Given the description of an element on the screen output the (x, y) to click on. 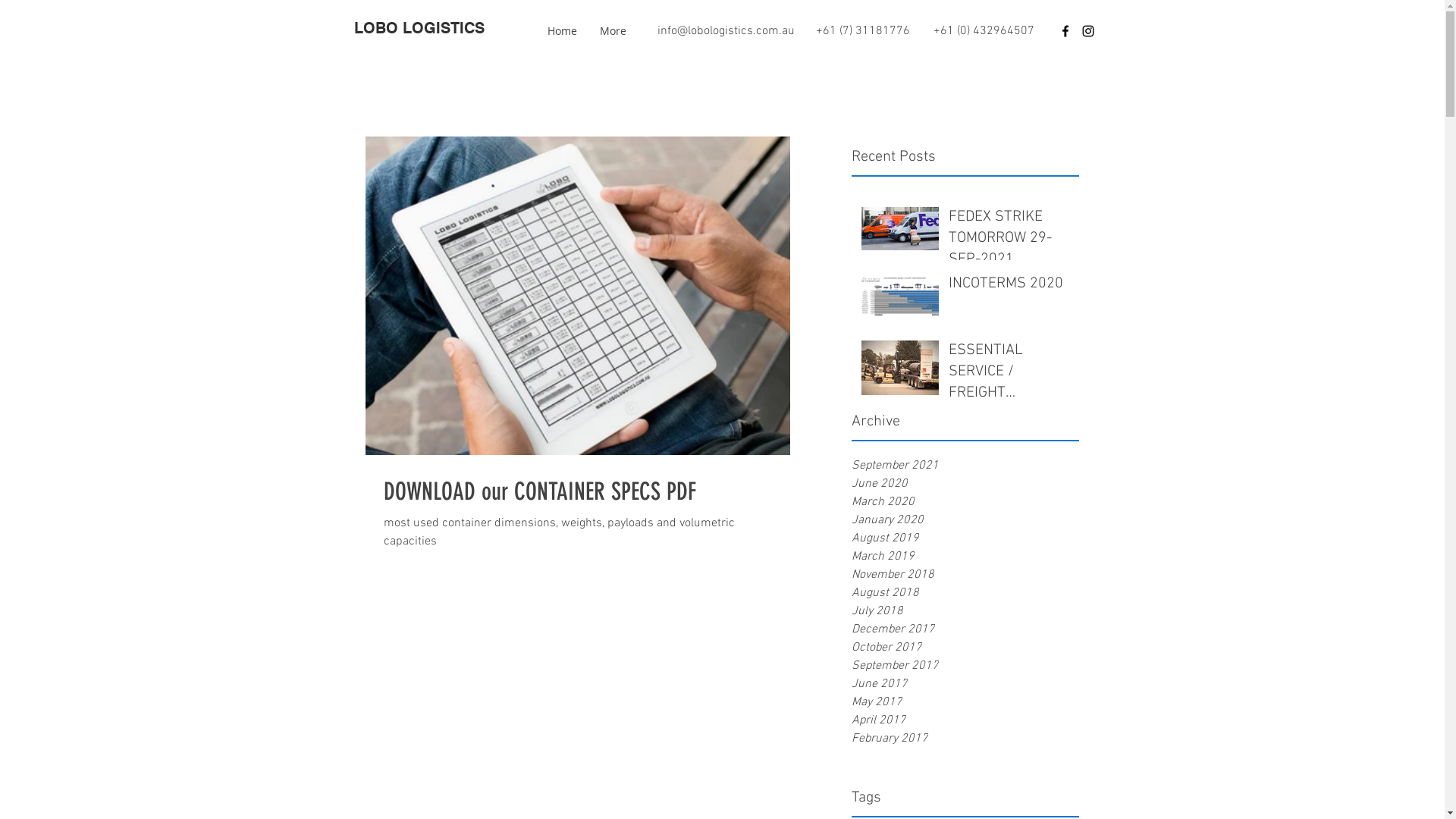
November 2018 Element type: text (964, 574)
June 2017 Element type: text (964, 683)
January 2020 Element type: text (964, 520)
August 2019 Element type: text (964, 538)
INCOTERMS 2020 Element type: text (1008, 286)
ESSENTIAL SERVICE / FREIGHT TRANSPORT Element type: text (1008, 374)
September 2021 Element type: text (964, 465)
December 2017 Element type: text (964, 629)
August 2018 Element type: text (964, 592)
February 2017 Element type: text (964, 738)
September 2017 Element type: text (964, 665)
October 2017 Element type: text (964, 647)
March 2019 Element type: text (964, 556)
May 2017 Element type: text (964, 702)
July 2018 Element type: text (964, 611)
March 2020 Element type: text (964, 501)
Home Element type: text (561, 30)
April 2017 Element type: text (964, 720)
FEDEX STRIKE TOMORROW 29-SEP-2021 Element type: text (1008, 241)
DOWNLOAD our CONTAINER SPECS PDF Element type: text (577, 491)
June 2020 Element type: text (964, 483)
info@lobologistics.com.au Element type: text (724, 30)
